Given the description of an element on the screen output the (x, y) to click on. 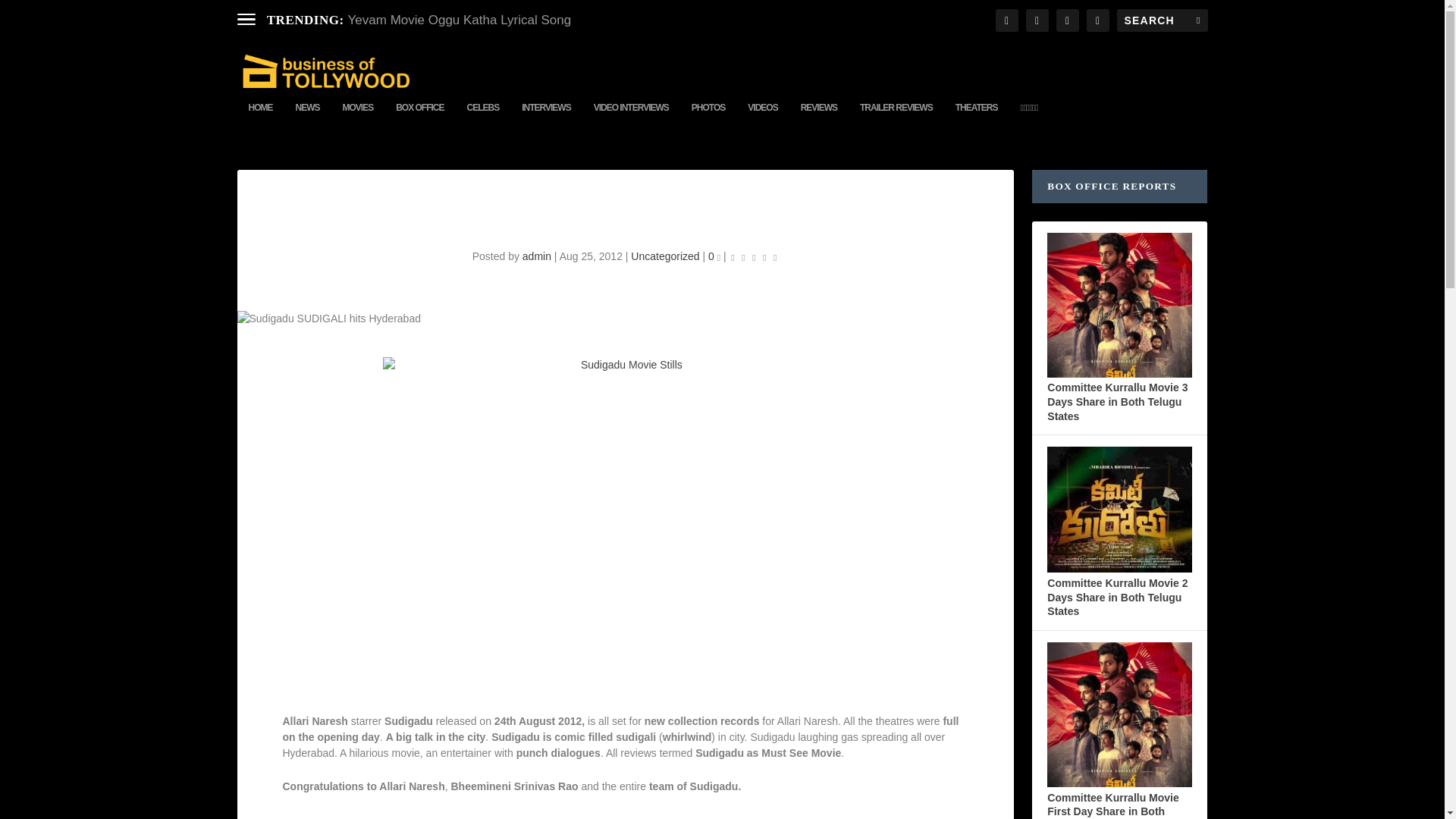
Rating: 0.00 (753, 256)
Yevam Movie Oggu Katha Lyrical Song (459, 20)
INTERVIEWS (545, 120)
VIDEO INTERVIEWS (631, 120)
Search for: (1161, 20)
Posts by admin (536, 256)
BOX OFFICE (420, 120)
REVIEWS (818, 120)
THEATERS (976, 120)
